Given the description of an element on the screen output the (x, y) to click on. 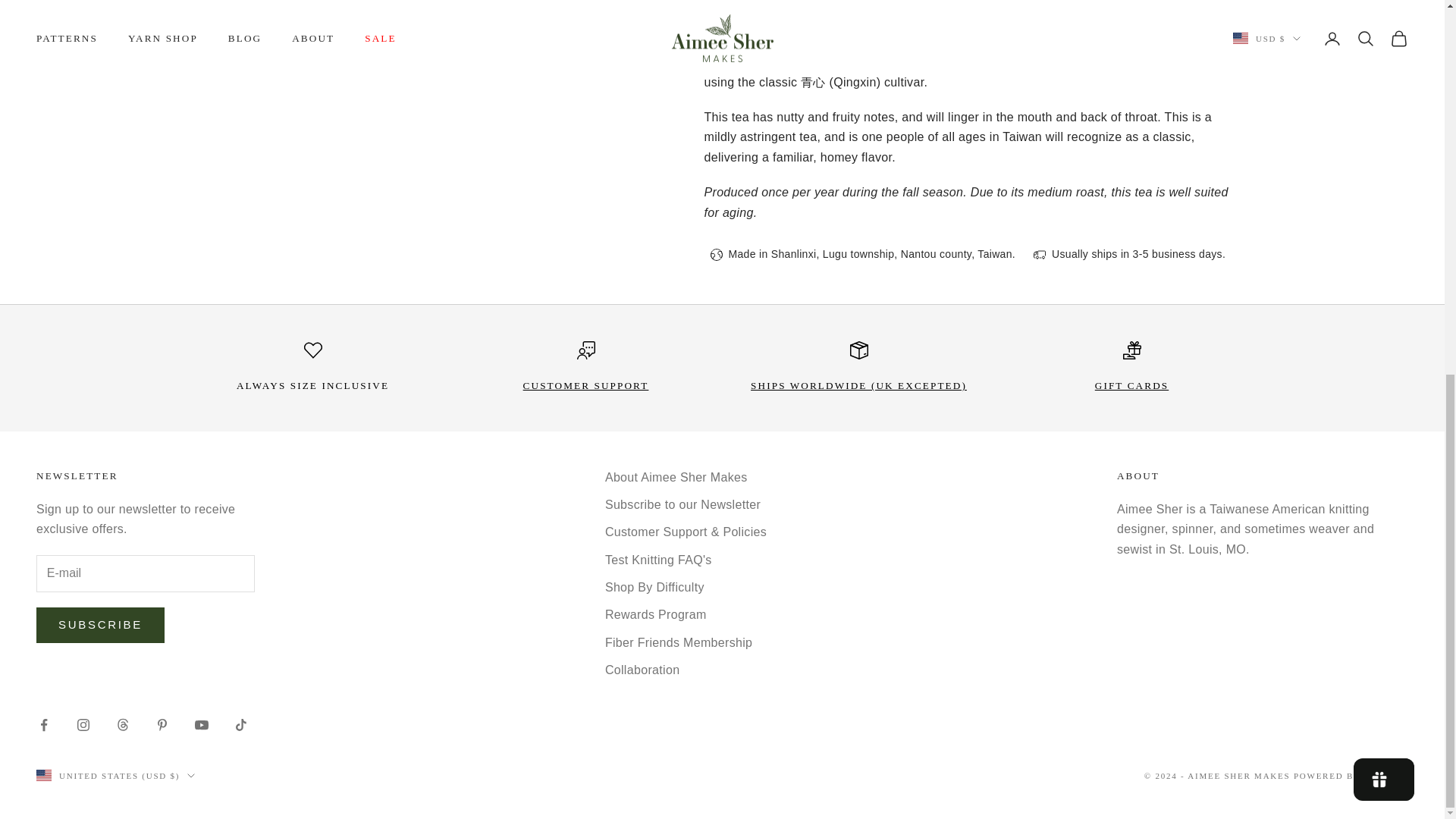
Gift Card to Aimee Sher Makes (424, 35)
Customer Service (1131, 385)
